Given the description of an element on the screen output the (x, y) to click on. 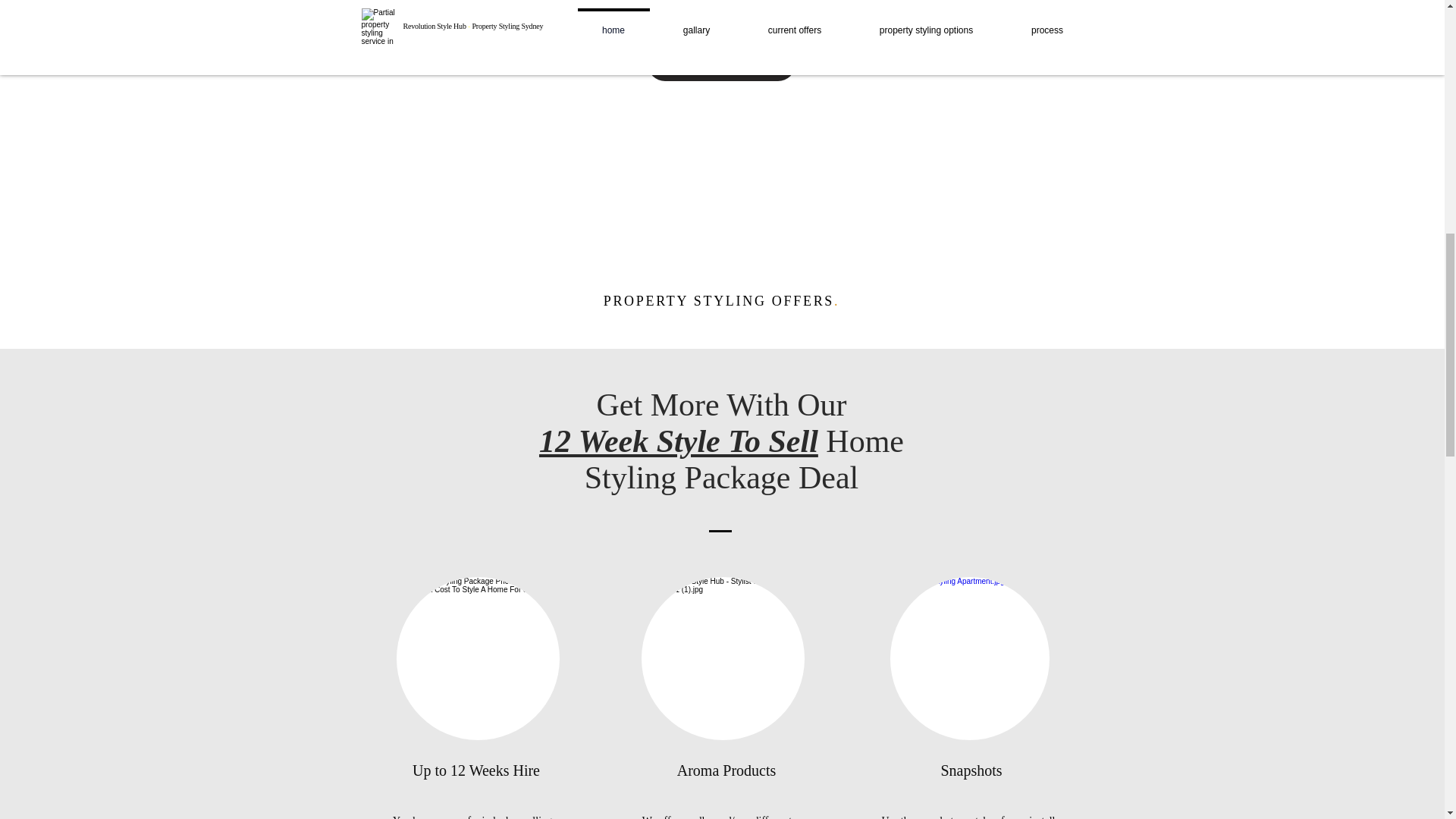
Aroma Products With Styling Package (723, 658)
Social Media Photos (969, 658)
12 Weeks Property Styling Package (477, 658)
12 Week Style To Sell (678, 441)
